Given the description of an element on the screen output the (x, y) to click on. 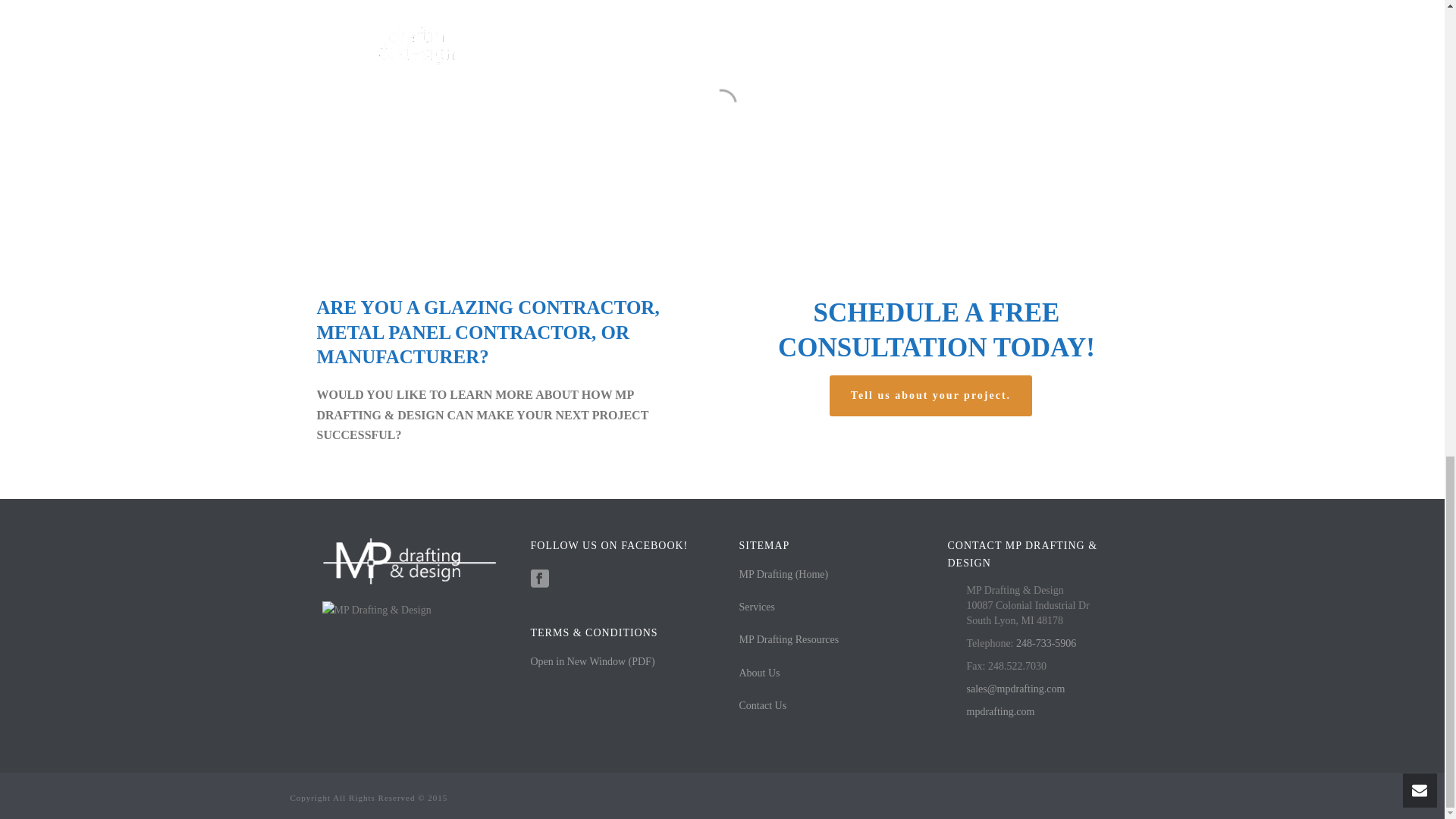
Tell us about your project. (930, 395)
mpdrafting.com (999, 712)
About Us (758, 672)
MP Drafting Home (783, 573)
Contact Us (762, 705)
248-733-5906 (1045, 643)
Tell us about your project. (930, 395)
About Us (758, 672)
Follow Us on Facebook! facebook (539, 579)
MP Drafting Resources (788, 639)
Services (756, 606)
Services (756, 606)
Contact Us (762, 705)
MP Drafting Resources (788, 639)
